Given the description of an element on the screen output the (x, y) to click on. 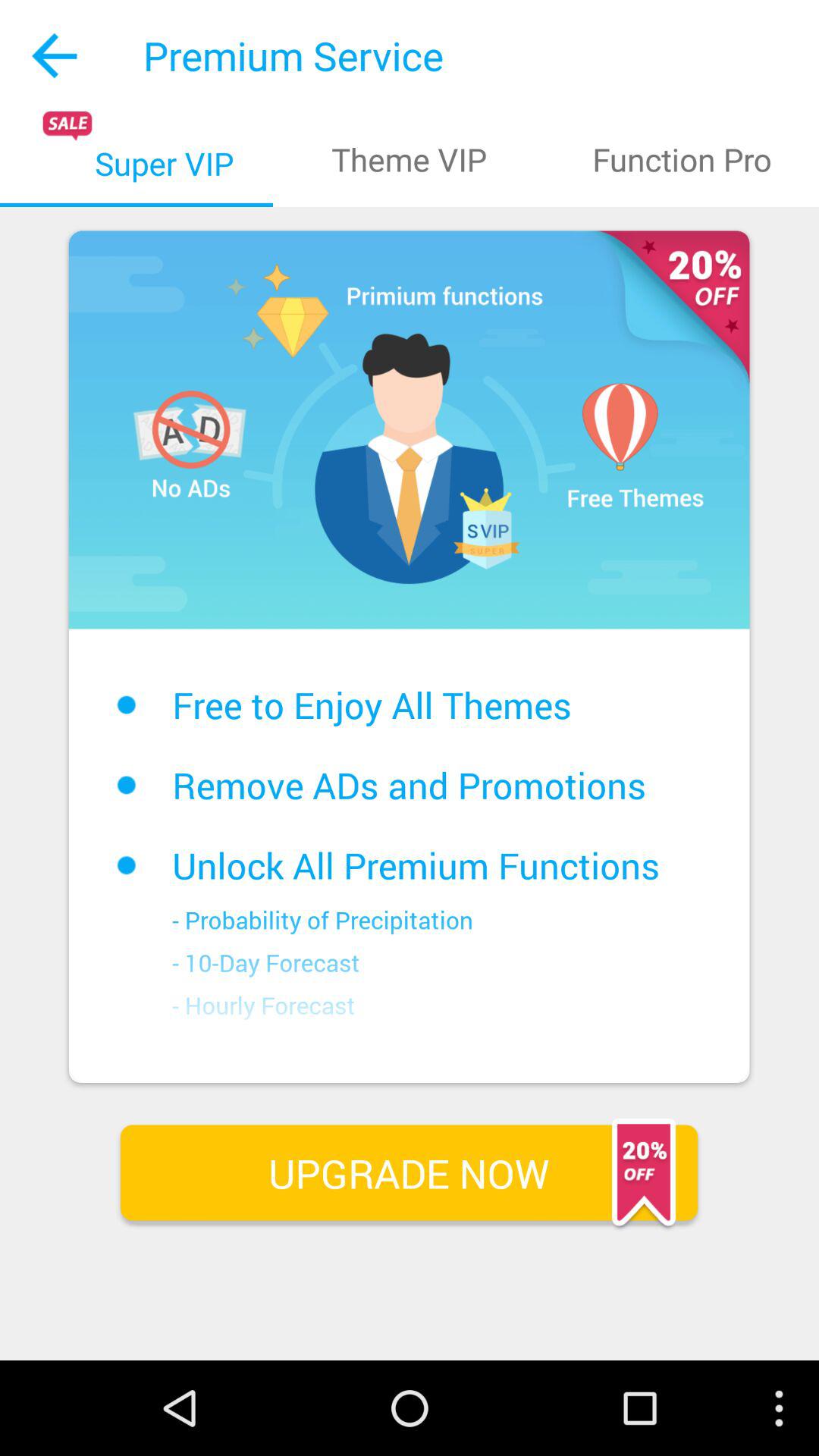
flip to the upgrade now (408, 1172)
